Given the description of an element on the screen output the (x, y) to click on. 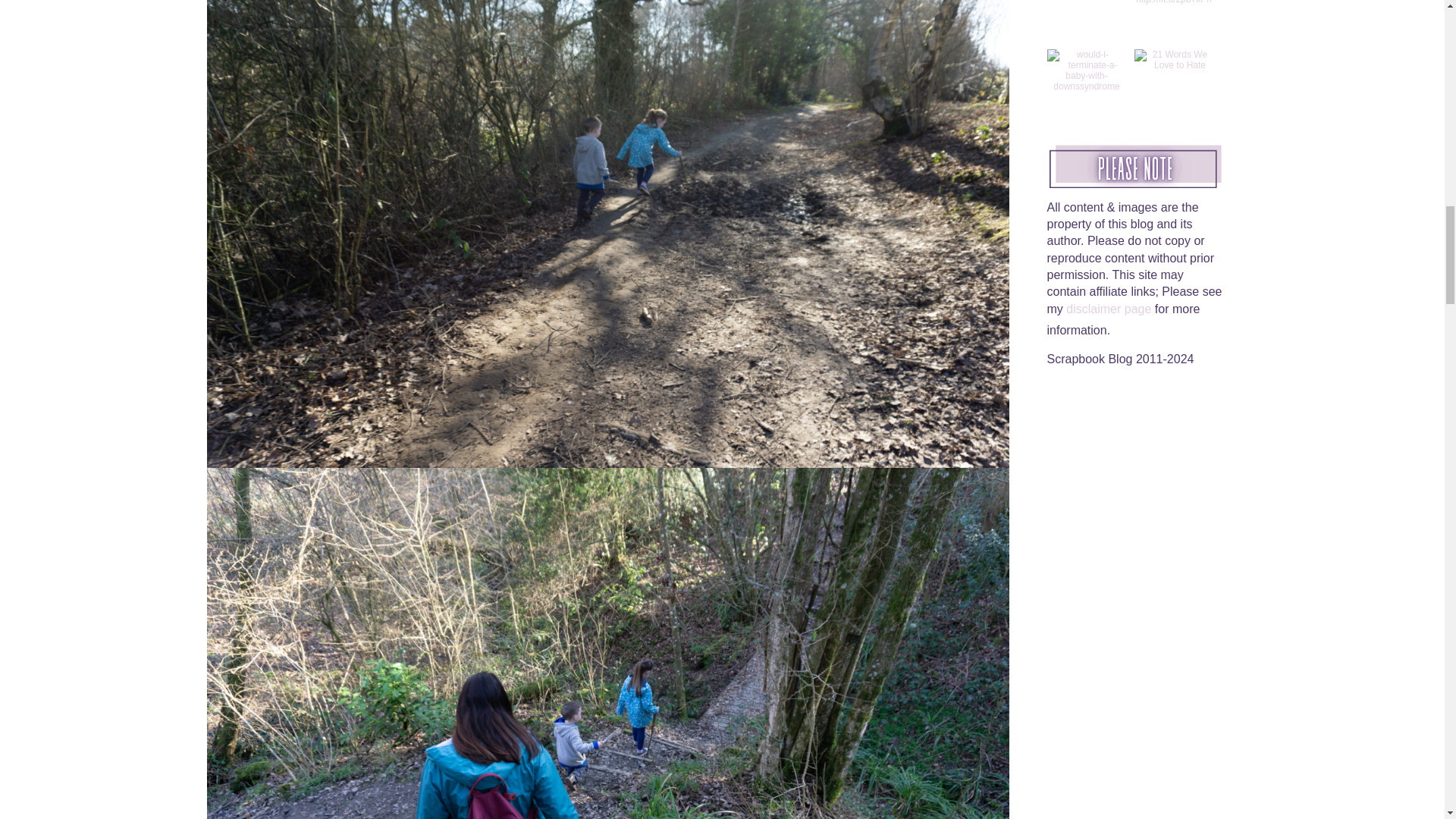
21 Words We Love to Hate - Pinned on Nov 27, 2021 (1174, 58)
Privacy Policy (1157, 325)
